Given the description of an element on the screen output the (x, y) to click on. 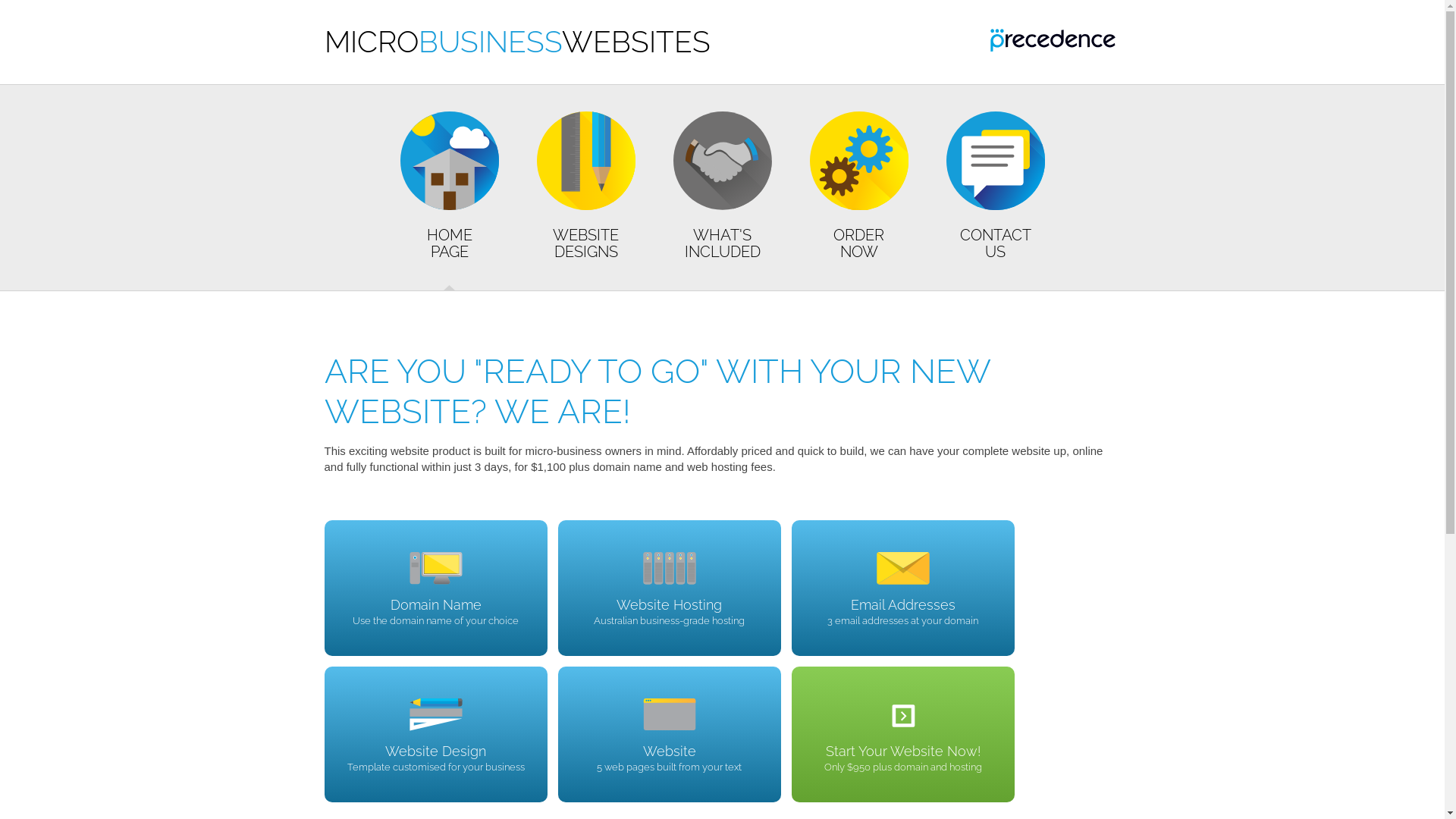
MICROBUSINESSWEBSITES Element type: text (517, 41)
Website
5 web pages built from your text Element type: text (669, 734)
Domain Name
Use the domain name of your choice Element type: text (435, 587)
CONTACT US Element type: text (994, 195)
ORDER NOW Element type: text (858, 195)
Email Addresses
3 email addresses at your domain Element type: text (902, 587)
Website Design
Template customised for your business Element type: text (435, 734)
WEBSITE DESIGNS Element type: text (585, 195)
Start Your Website Now!
Only $950 plus domain and hosting Element type: text (902, 734)
Website Hosting
Australian business-grade hosting Element type: text (669, 587)
WHAT'S INCLUDED Element type: text (721, 195)
HOME PAGE Element type: text (448, 195)
